Given the description of an element on the screen output the (x, y) to click on. 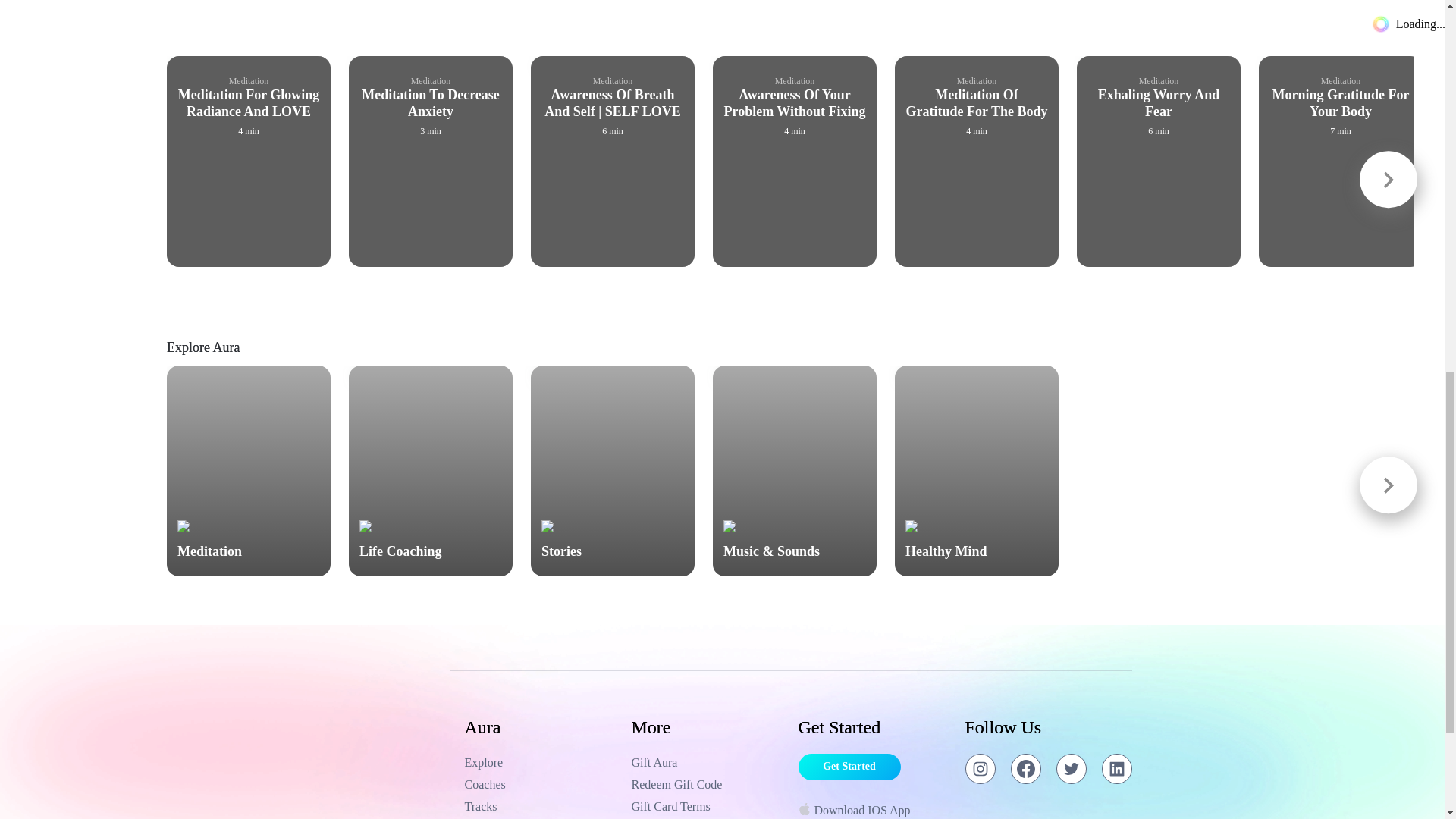
Redeem Gift Code (706, 784)
Get Started (848, 766)
View All (1392, 42)
Tracks (539, 806)
Coaches (539, 784)
Gift Aura (706, 762)
Gift Card Terms (706, 806)
Explore (539, 762)
